Given the description of an element on the screen output the (x, y) to click on. 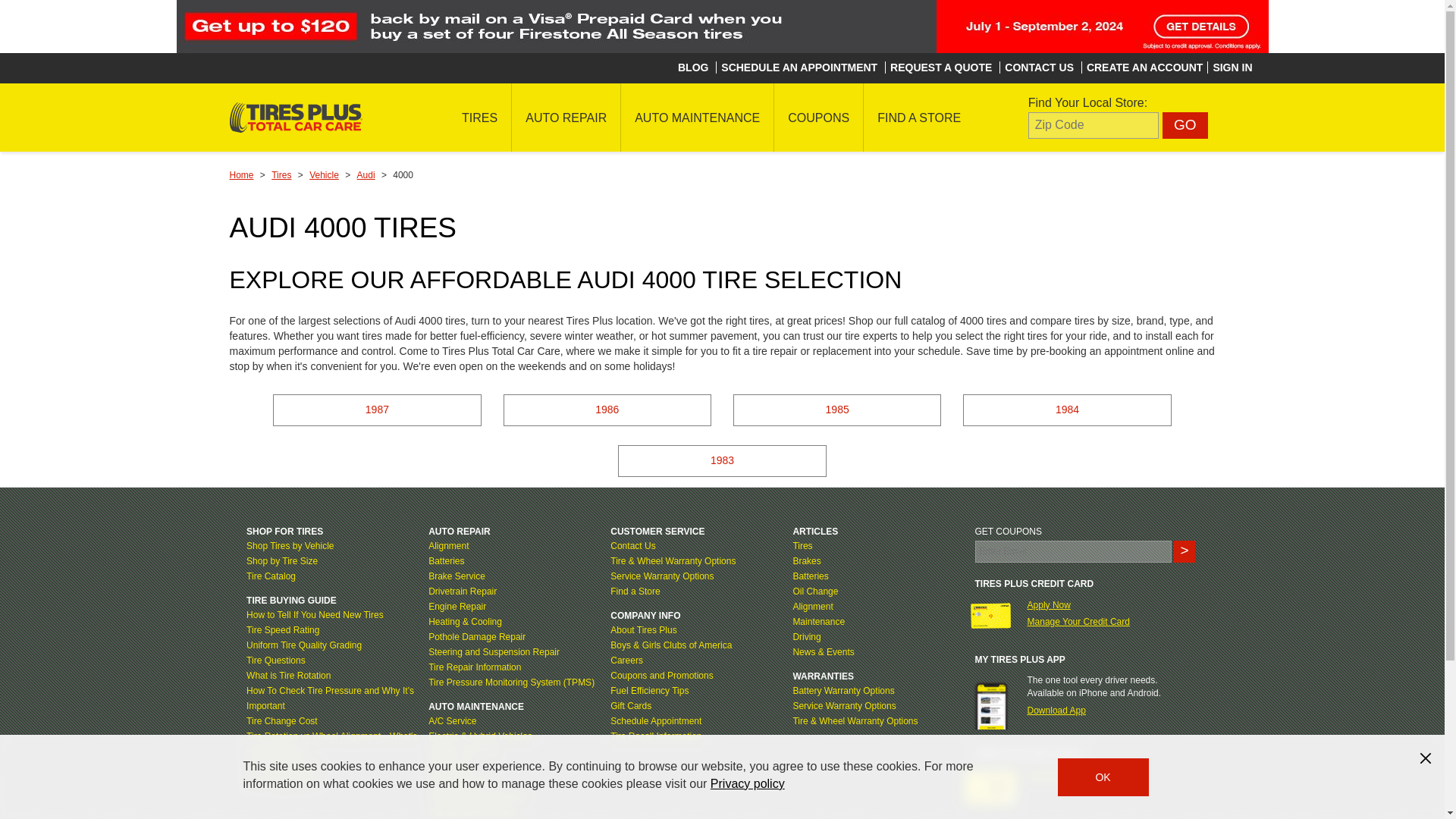
TIRES (479, 117)
close button (1425, 758)
BLOG (692, 67)
AUTO REPAIR (566, 117)
Enter Email (1073, 551)
REQUEST A QUOTE (940, 67)
CREATE AN ACCOUNT (1144, 67)
CONTACT US (1038, 67)
SIGN IN (1231, 67)
Zip Code (1092, 125)
Privacy policy (747, 783)
SCHEDULE AN APPOINTMENT (799, 67)
agree button (1102, 777)
